Given the description of an element on the screen output the (x, y) to click on. 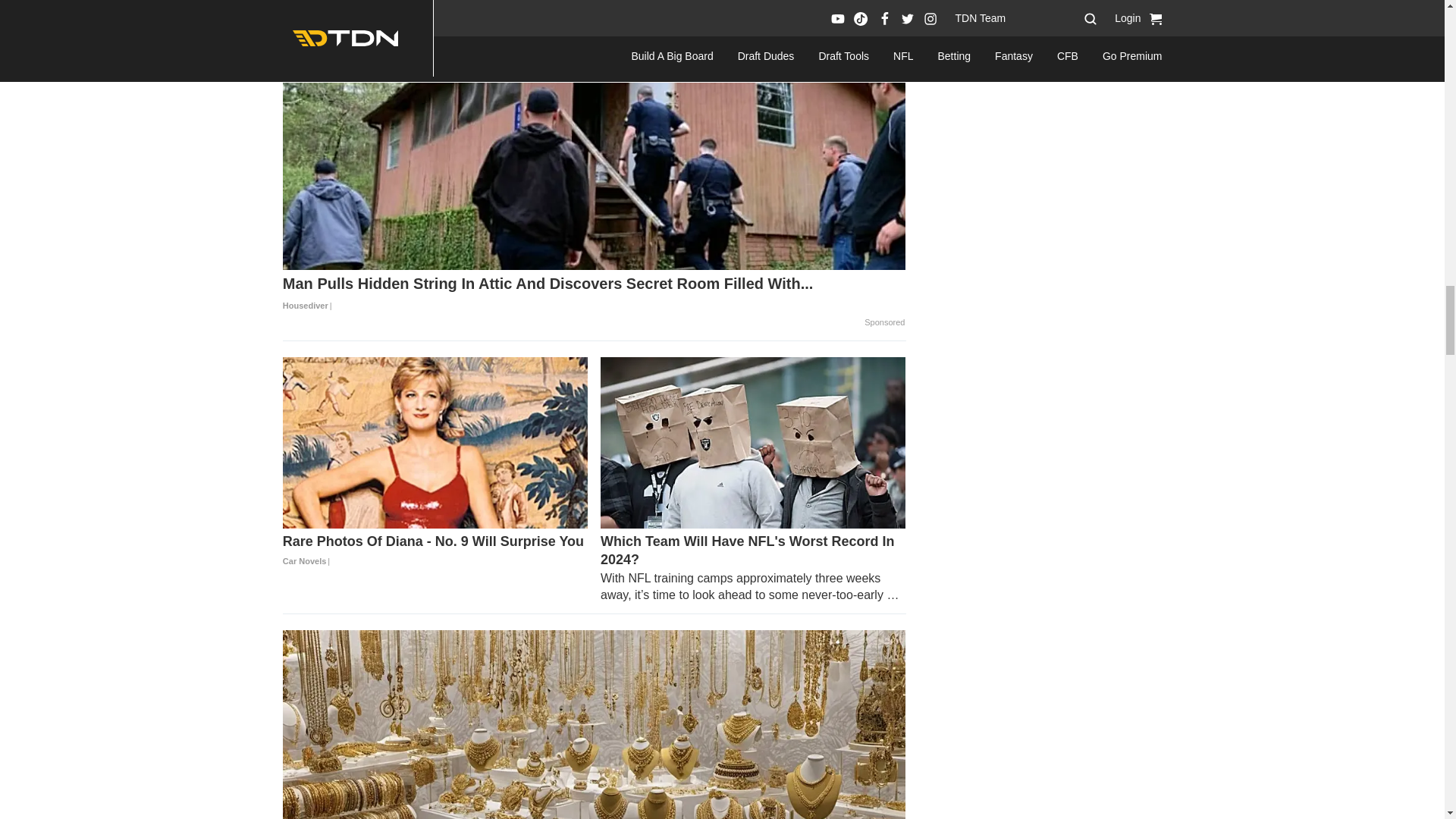
Rare Photos Of Diana - No. 9 Will Surprise You (435, 551)
Rare Photos Of Diana - No. 9 Will Surprise You (435, 442)
Which Team Will Have NFL's Worst Record In 2024? (752, 442)
